Given the description of an element on the screen output the (x, y) to click on. 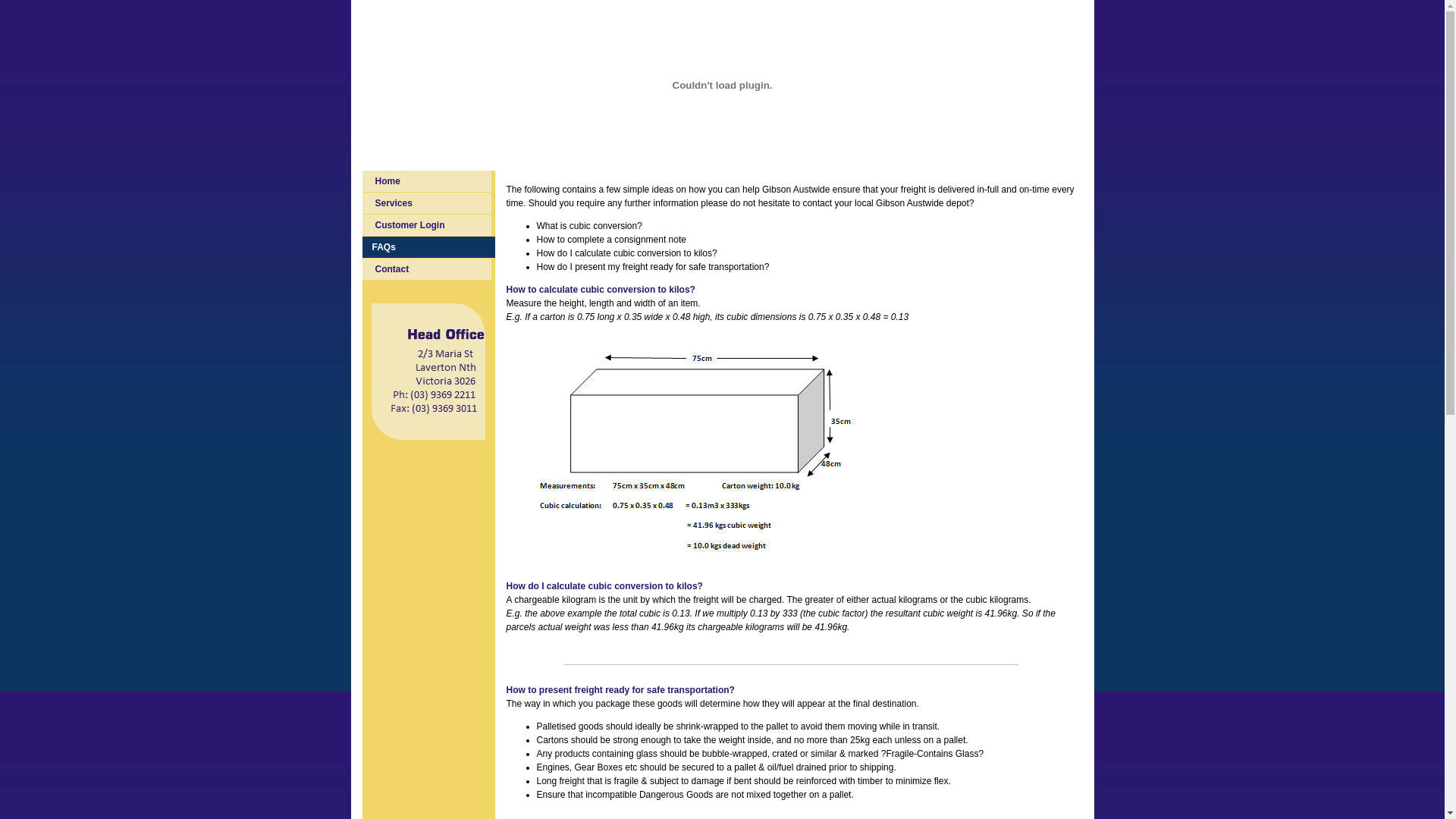
Contact Element type: text (426, 268)
Customer Login Element type: text (426, 224)
Services Element type: text (426, 202)
Home Element type: text (426, 180)
FAQs Element type: text (428, 246)
